Given the description of an element on the screen output the (x, y) to click on. 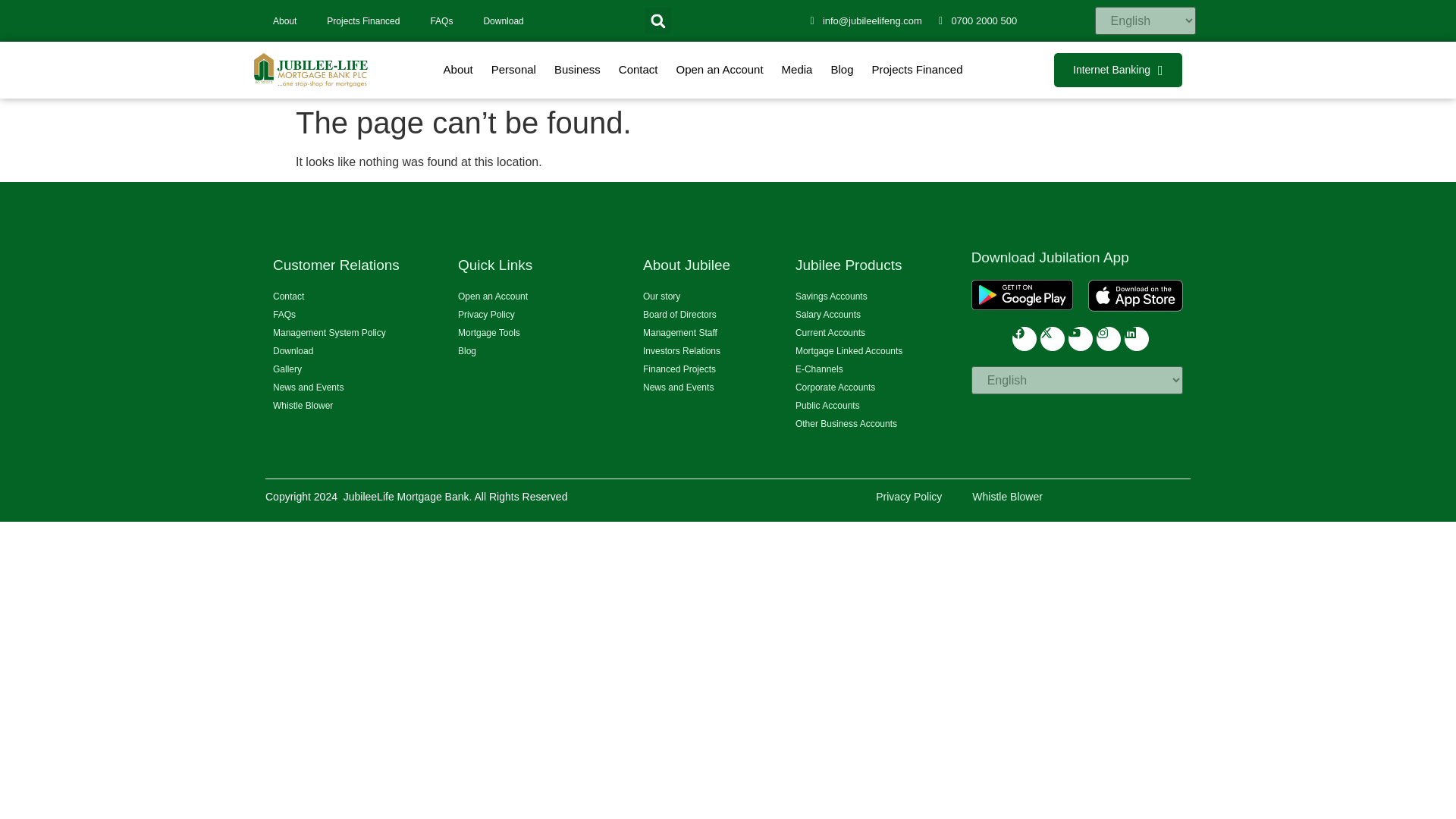
Projects Financed (362, 20)
Blog (841, 69)
Download (502, 20)
Personal (512, 69)
Business (577, 69)
About (284, 20)
About (457, 69)
Media (797, 69)
Projects Financed (917, 69)
FAQs (440, 20)
